Given the description of an element on the screen output the (x, y) to click on. 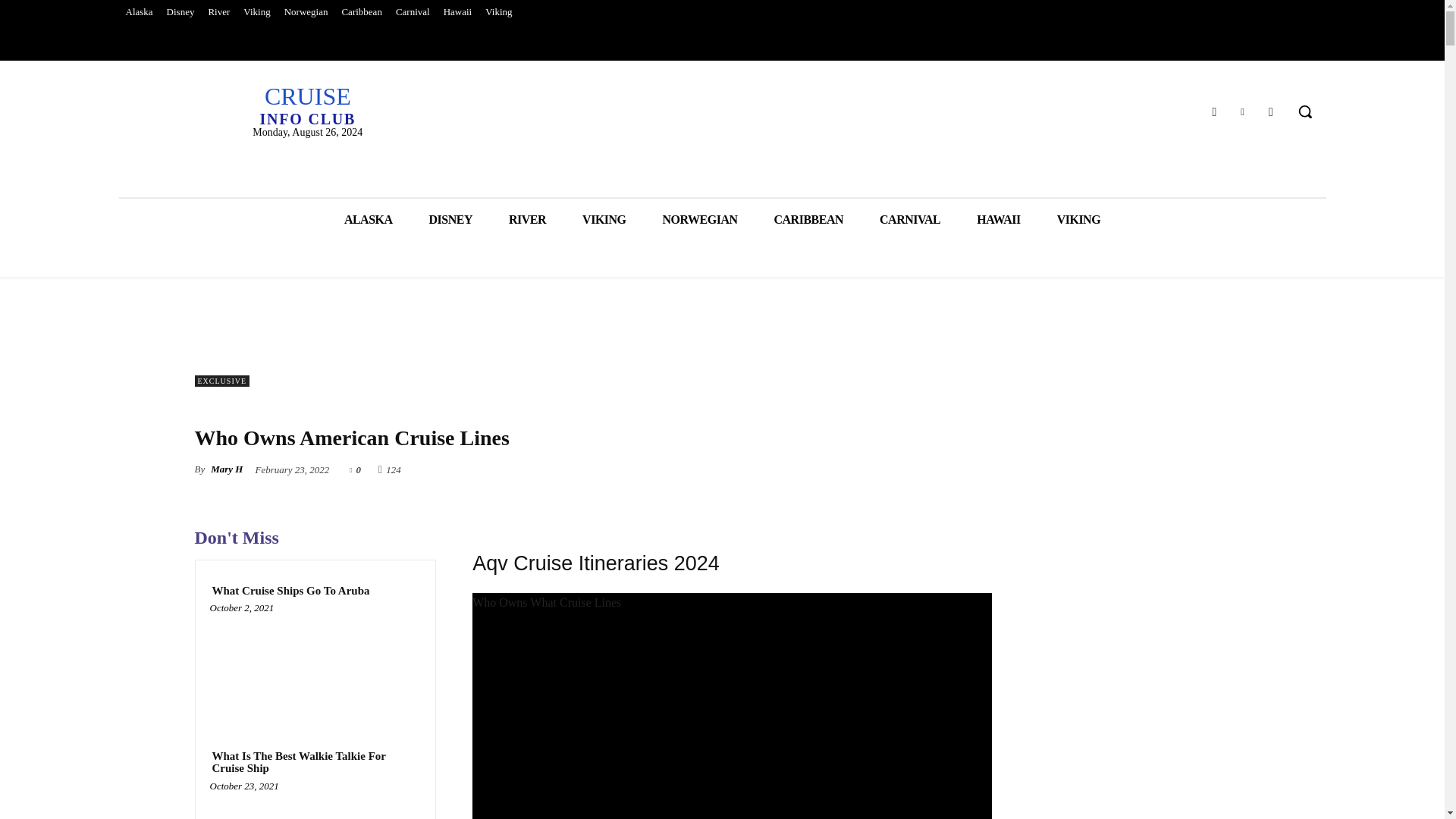
Viking (255, 12)
NORWEGIAN (700, 219)
VIKING (603, 219)
What Cruise Ships Go To Aruba (314, 663)
River (217, 12)
What Cruise Ships Go To Aruba (290, 590)
Disney (181, 12)
Caribbean (361, 12)
Hawaii (306, 104)
